Given the description of an element on the screen output the (x, y) to click on. 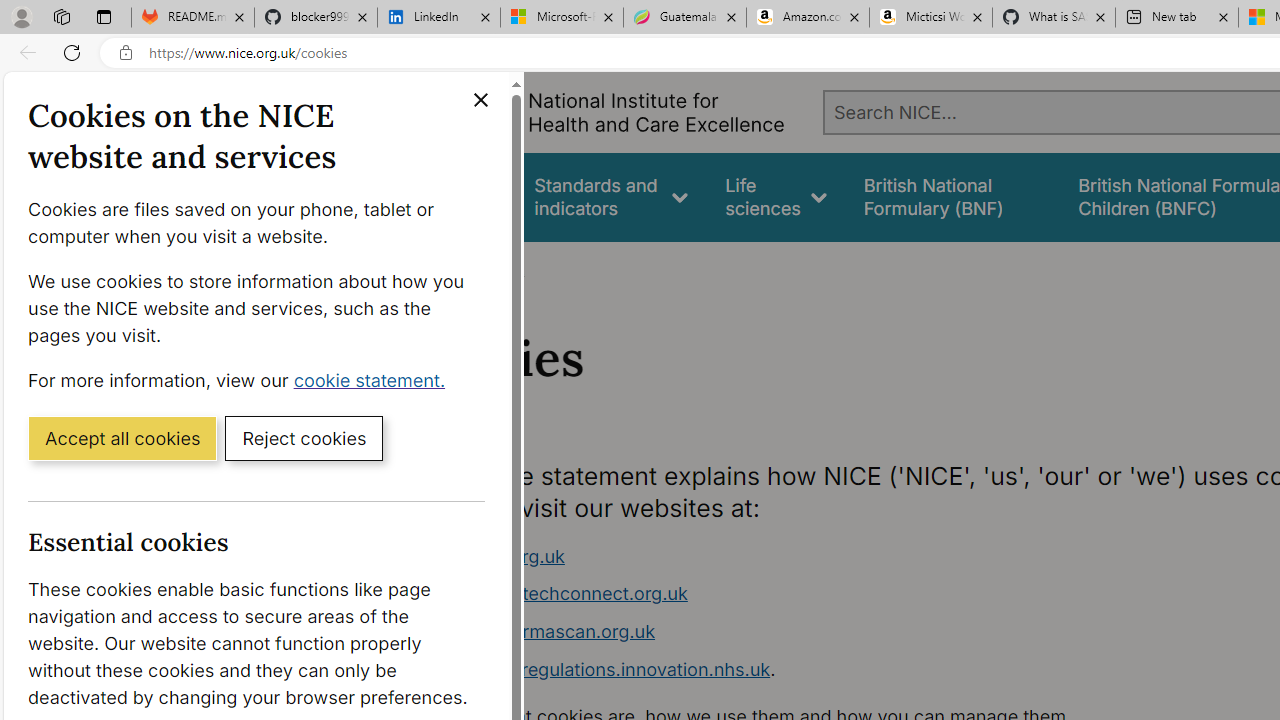
Home> (433, 268)
Life sciences (776, 196)
www.nice.org.uk (796, 556)
Guidance (458, 196)
